Given the description of an element on the screen output the (x, y) to click on. 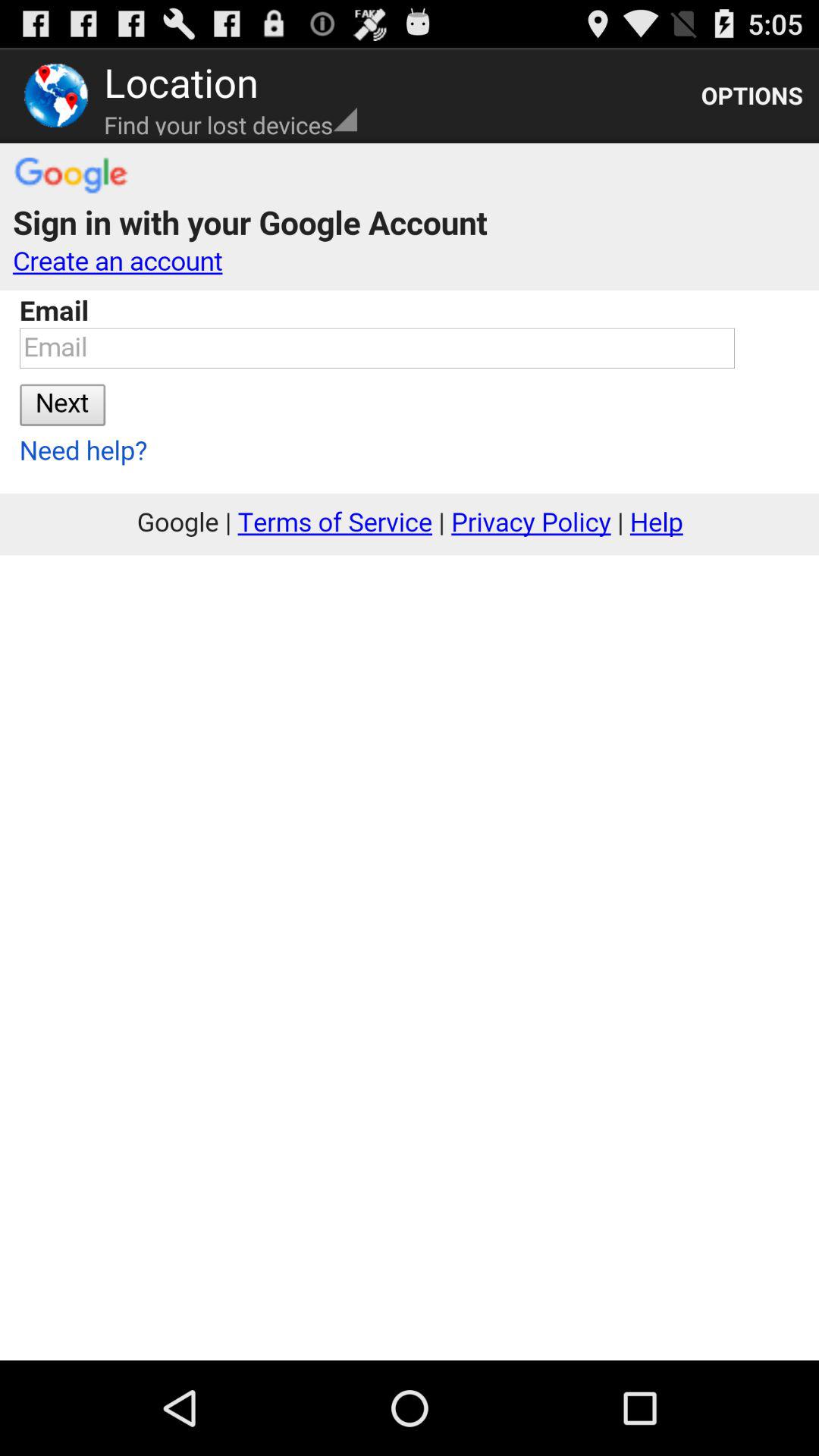
sign up link (409, 751)
